Given the description of an element on the screen output the (x, y) to click on. 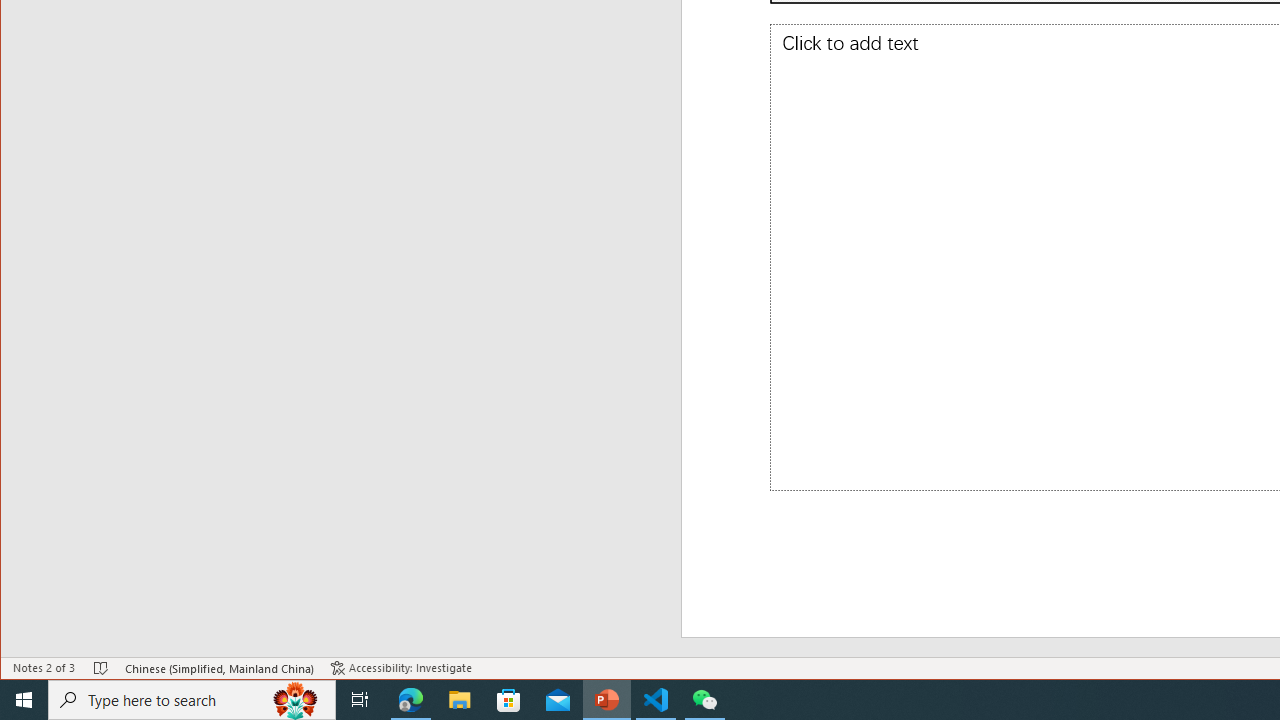
Microsoft Edge - 1 running window (411, 699)
WeChat - 1 running window (704, 699)
